Given the description of an element on the screen output the (x, y) to click on. 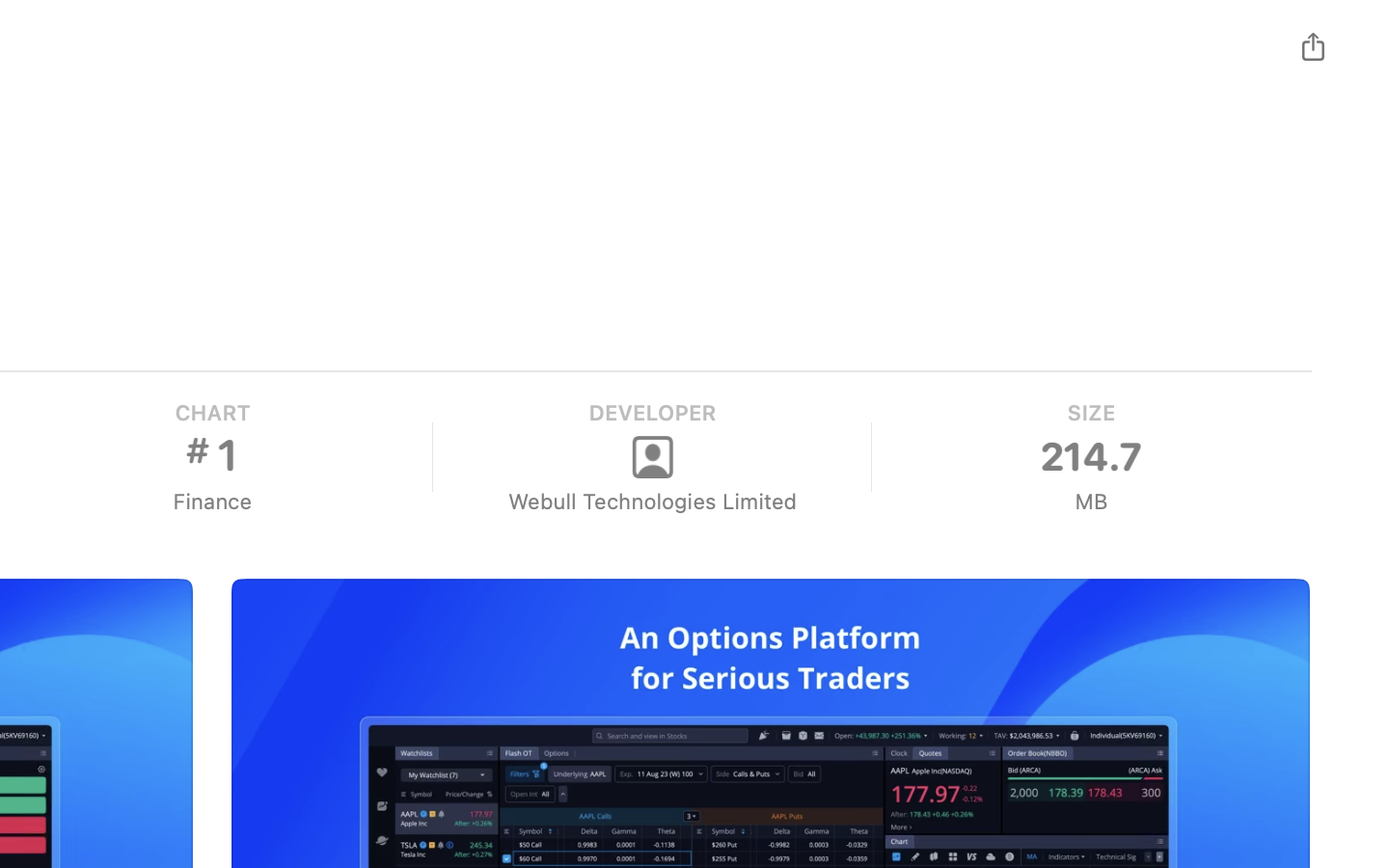
MB, SIZE, 214.7 Element type: AXStaticText (1090, 456)
# Element type: AXStaticText (196, 450)
Finance Element type: AXStaticText (210, 501)
DEVELOPER Element type: AXStaticText (650, 412)
Webull Technologies Limited, DEVELOPER, selfie Element type: AXStaticText (650, 456)
